Given the description of an element on the screen output the (x, y) to click on. 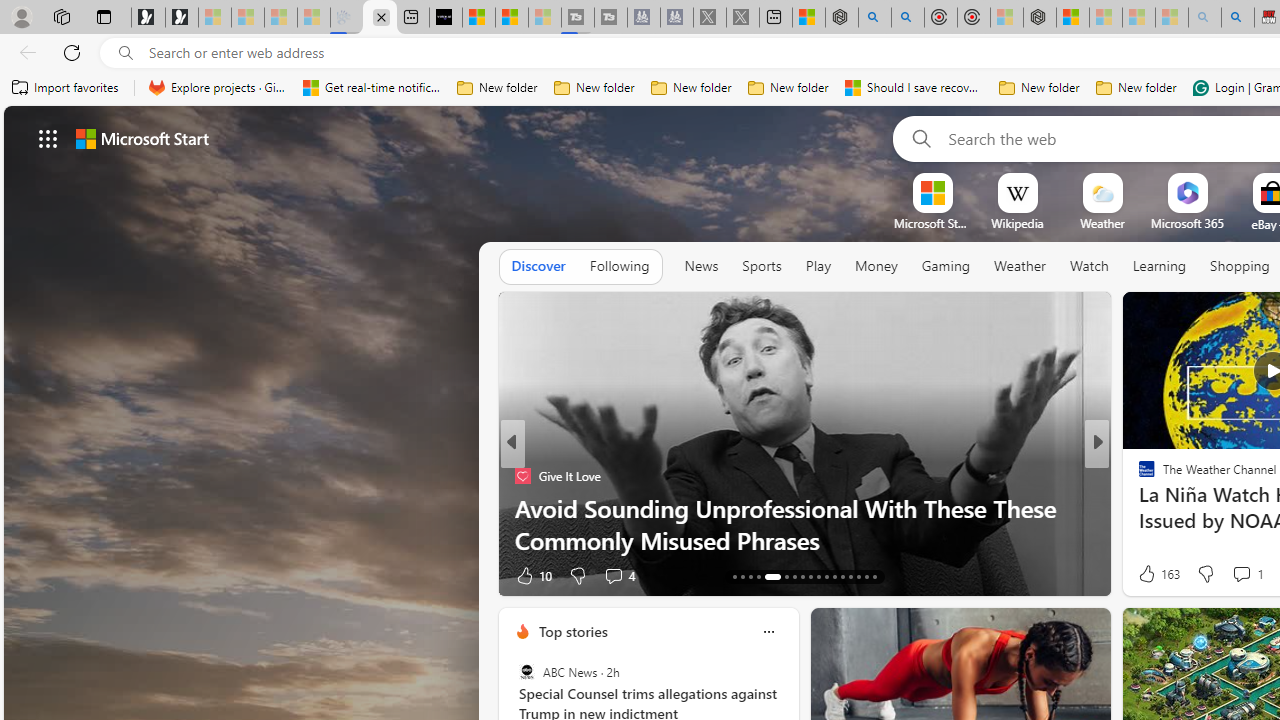
AutomationID: tab-20 (801, 576)
View comments 12 Comment (11, 575)
The Telegraph (1138, 475)
View comments 11 Comment (1234, 575)
AutomationID: tab-19 (793, 576)
10 Like (1149, 574)
Medical Xpress (1138, 475)
Should I save recovered Word documents? - Microsoft Support (913, 88)
Fox Weather (1138, 475)
